Given the description of an element on the screen output the (x, y) to click on. 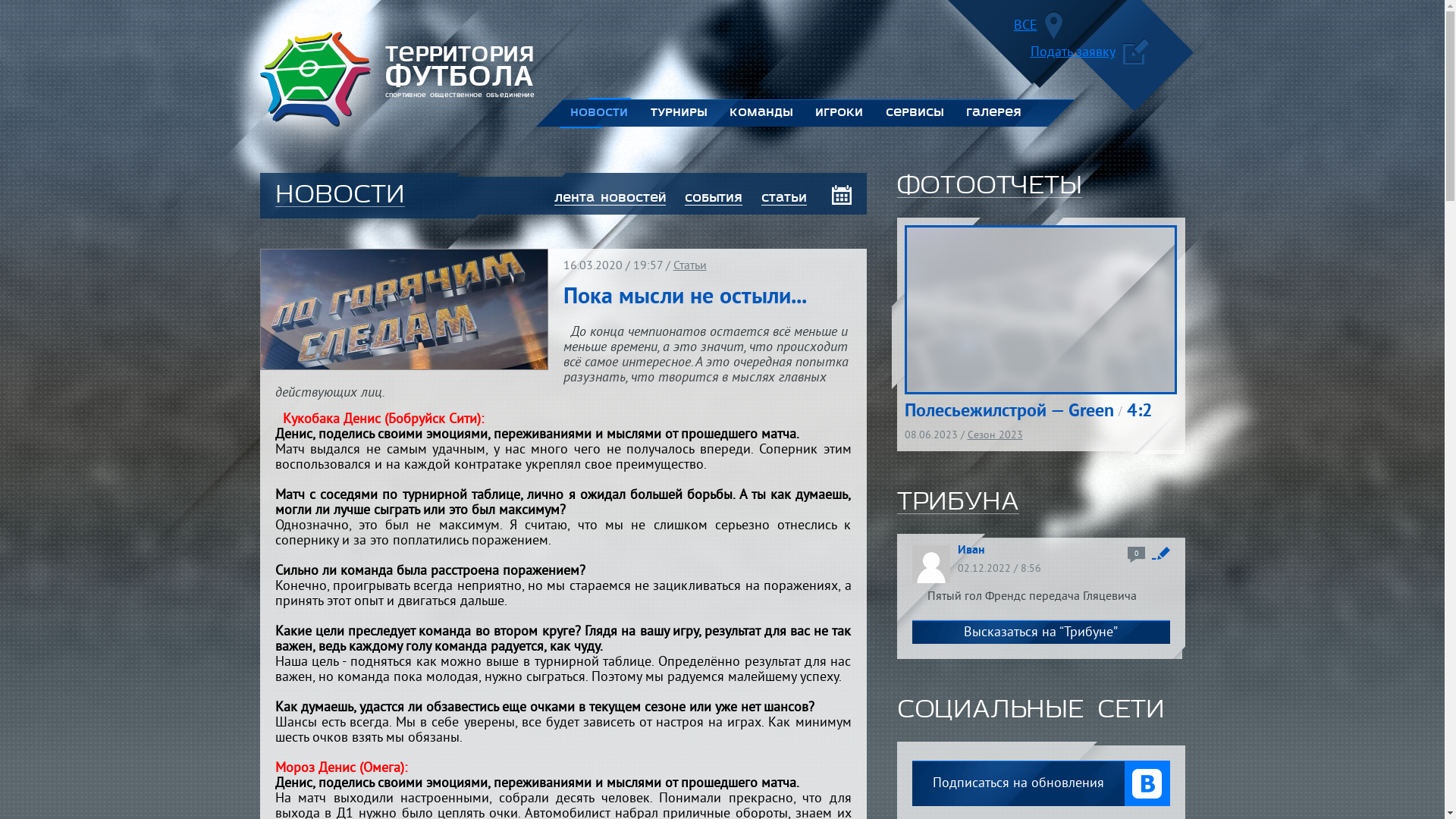
0 Element type: text (1135, 554)
